Given the description of an element on the screen output the (x, y) to click on. 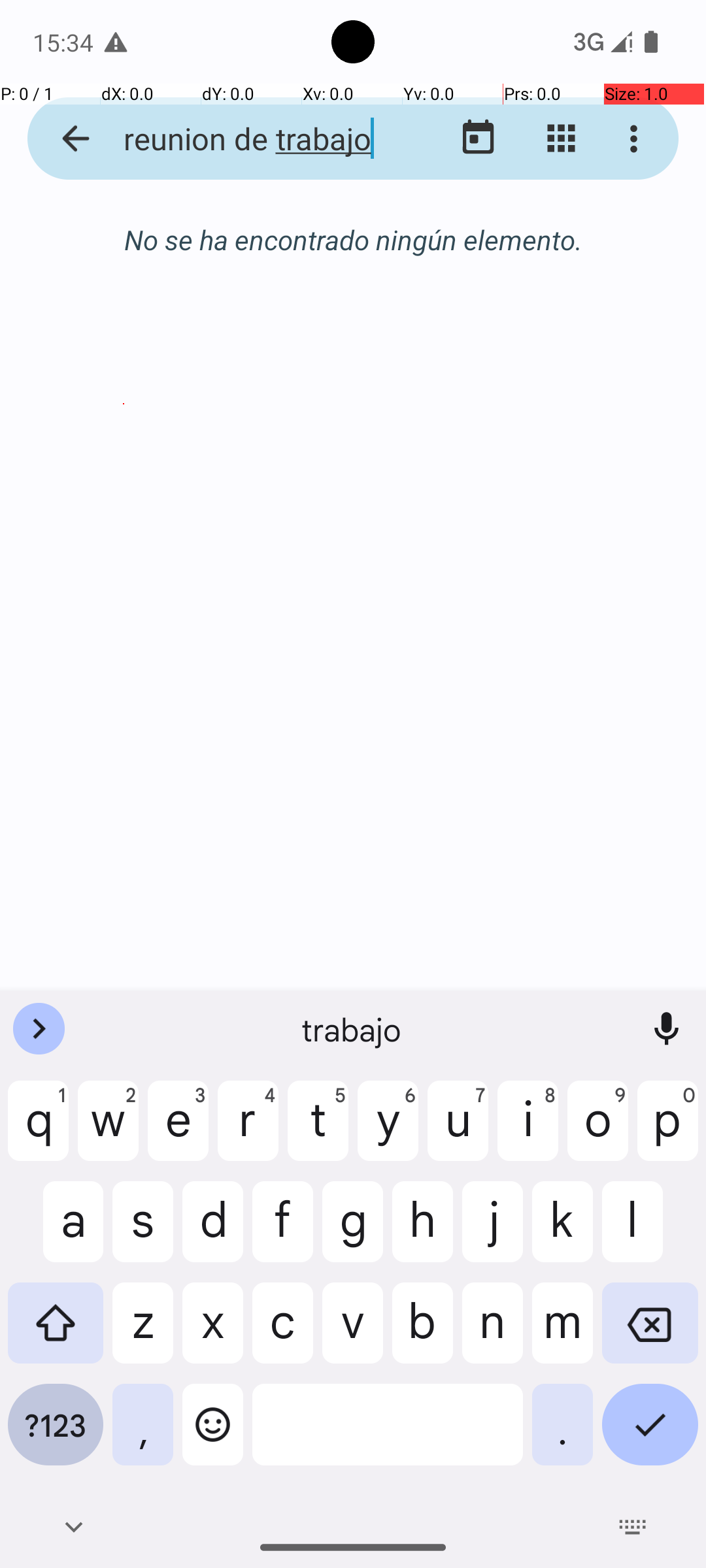
reunion de trabajo Element type: android.widget.EditText (252, 138)
Ir al día de hoy Element type: android.widget.Button (477, 138)
Nuevo evento Element type: android.widget.ImageButton (630, 915)
ENERO Element type: android.widget.TextView (123, 319)
FEBRERO Element type: android.widget.TextView (352, 319)
MARZO Element type: android.widget.TextView (582, 319)
ABRIL Element type: android.widget.TextView (123, 487)
MAYO Element type: android.widget.TextView (352, 487)
JUNIO Element type: android.widget.TextView (582, 487)
JULIO Element type: android.widget.TextView (123, 655)
AGOSTO Element type: android.widget.TextView (352, 655)
SEPTIEMBRE Element type: android.widget.TextView (582, 655)
OCTUBRE Element type: android.widget.TextView (123, 823)
NOVIEMBRE Element type: android.widget.TextView (352, 823)
DICIEMBRE Element type: android.widget.TextView (582, 823)
Febrero Element type: android.widget.TextView (352, 239)
Enero 30 (lun) Element type: android.widget.TextView (352, 253)
No se ha encontrado ningún elemento. Element type: android.widget.TextView (353, 239)
trabajo Element type: android.widget.FrameLayout (352, 1028)
